Given the description of an element on the screen output the (x, y) to click on. 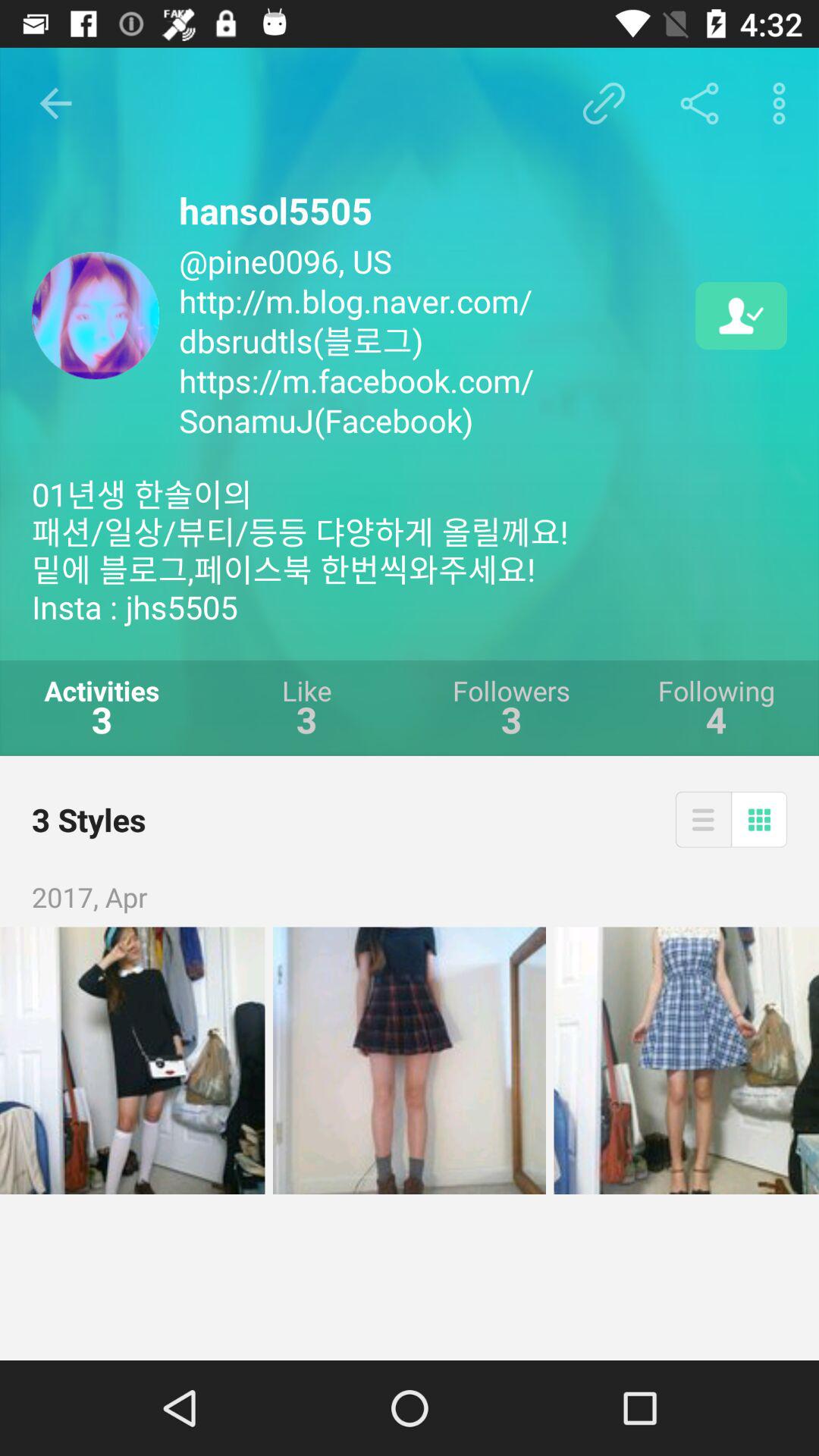
launch item above following icon (741, 315)
